Given the description of an element on the screen output the (x, y) to click on. 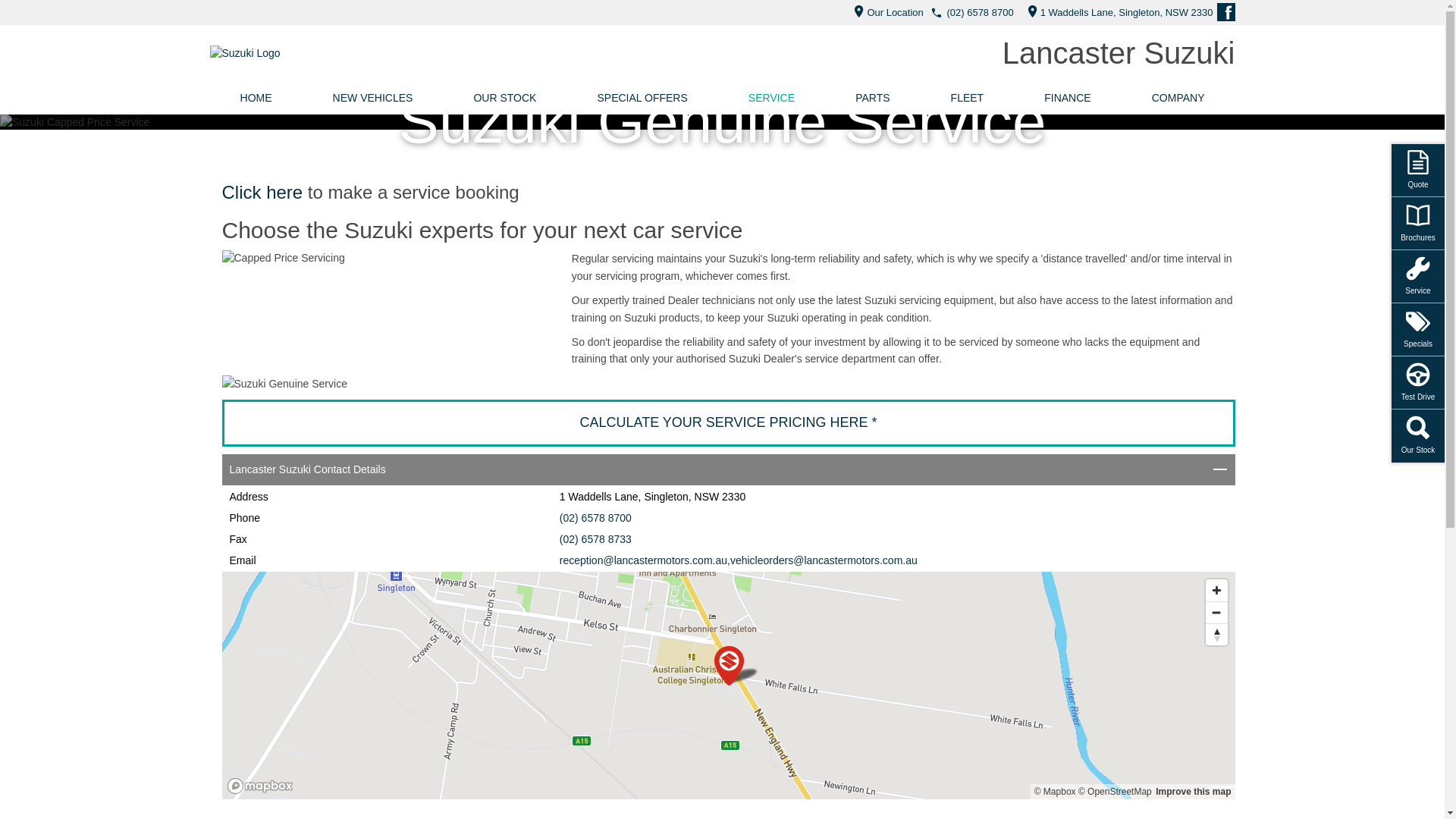
Reset bearing to north Element type: hover (1216, 634)
Click here Element type: text (261, 192)
CALCULATE YOUR SERVICE PRICING HERE * Element type: text (727, 421)
(02) 6578 8700 Element type: text (979, 12)
SERVICE Element type: text (771, 97)
PARTS Element type: text (872, 97)
COMPANY Element type: text (1178, 97)
(02) 6578 8733 Element type: text (595, 539)
Lancaster Suzuki Element type: text (1118, 52)
Facebook Element type: text (1225, 12)
NEW VEHICLES Element type: text (372, 97)
OUR STOCK Element type: text (504, 97)
Zoom out Element type: hover (1216, 612)
Zoom in Element type: hover (1216, 590)
Lancaster Suzuki Contact Details Element type: text (727, 469)
FINANCE Element type: text (1067, 97)
Our Location Element type: text (884, 12)
HOME Element type: text (255, 97)
1 Waddells Lane, Singleton, NSW 2330 Element type: text (1116, 12)
Improve this map Element type: text (1192, 791)
SPECIAL OFFERS Element type: text (641, 97)
FLEET Element type: text (967, 97)
(02) 6578 8700 Element type: text (595, 517)
